Given the description of an element on the screen output the (x, y) to click on. 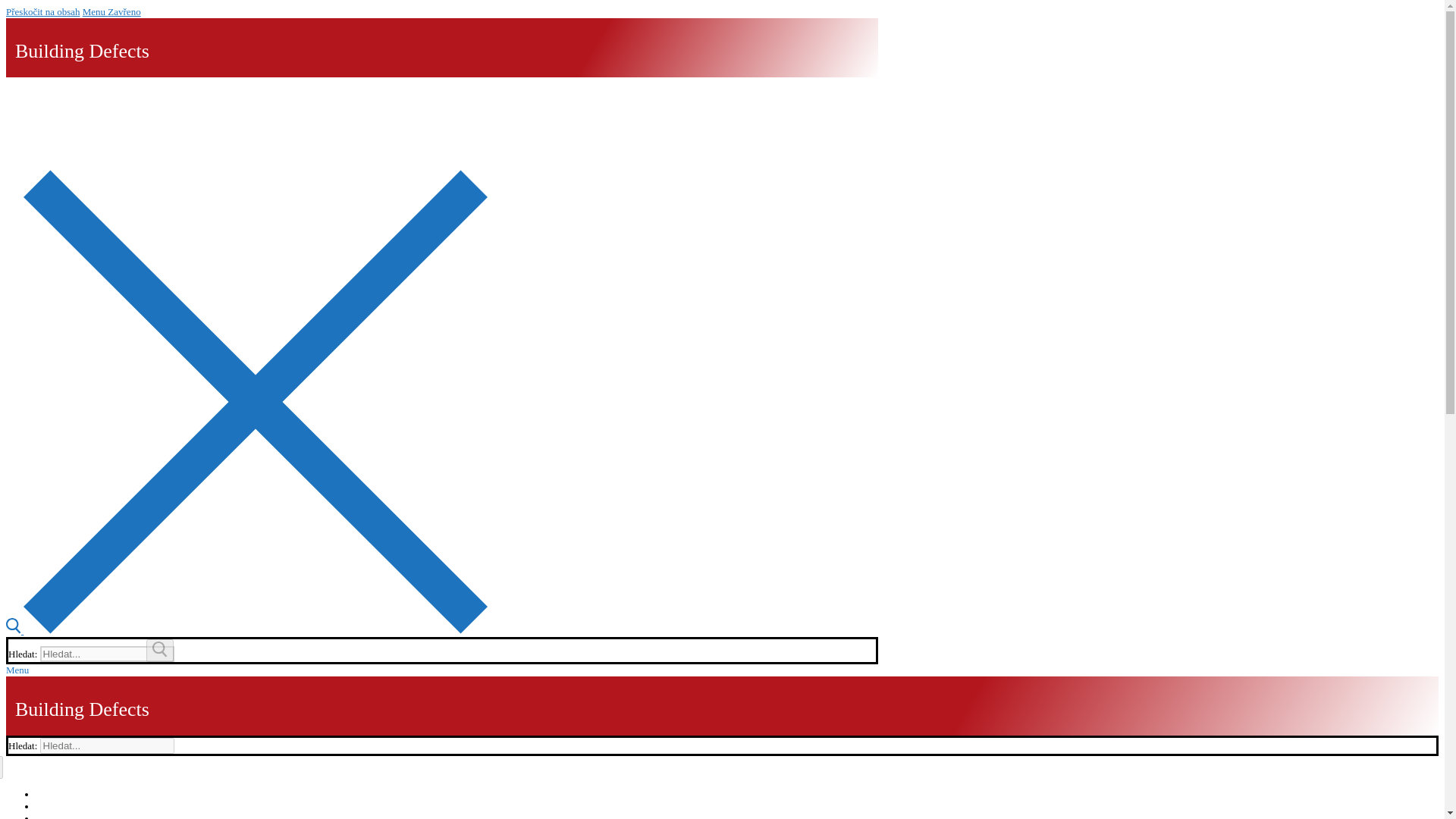
Hledat: (107, 653)
Hledat: (107, 745)
Menu (17, 669)
